Given the description of an element on the screen output the (x, y) to click on. 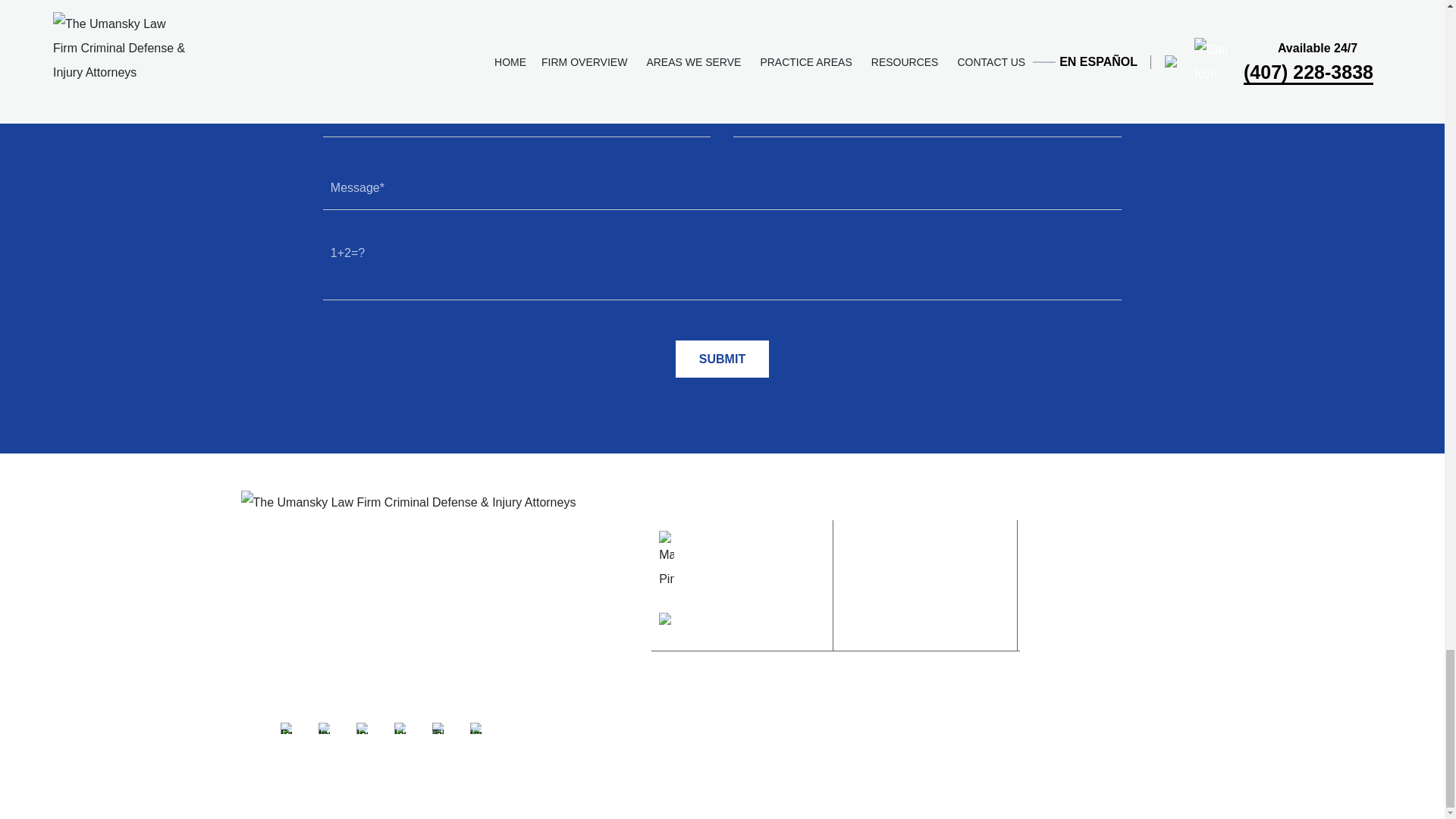
Submit (721, 358)
